Given the description of an element on the screen output the (x, y) to click on. 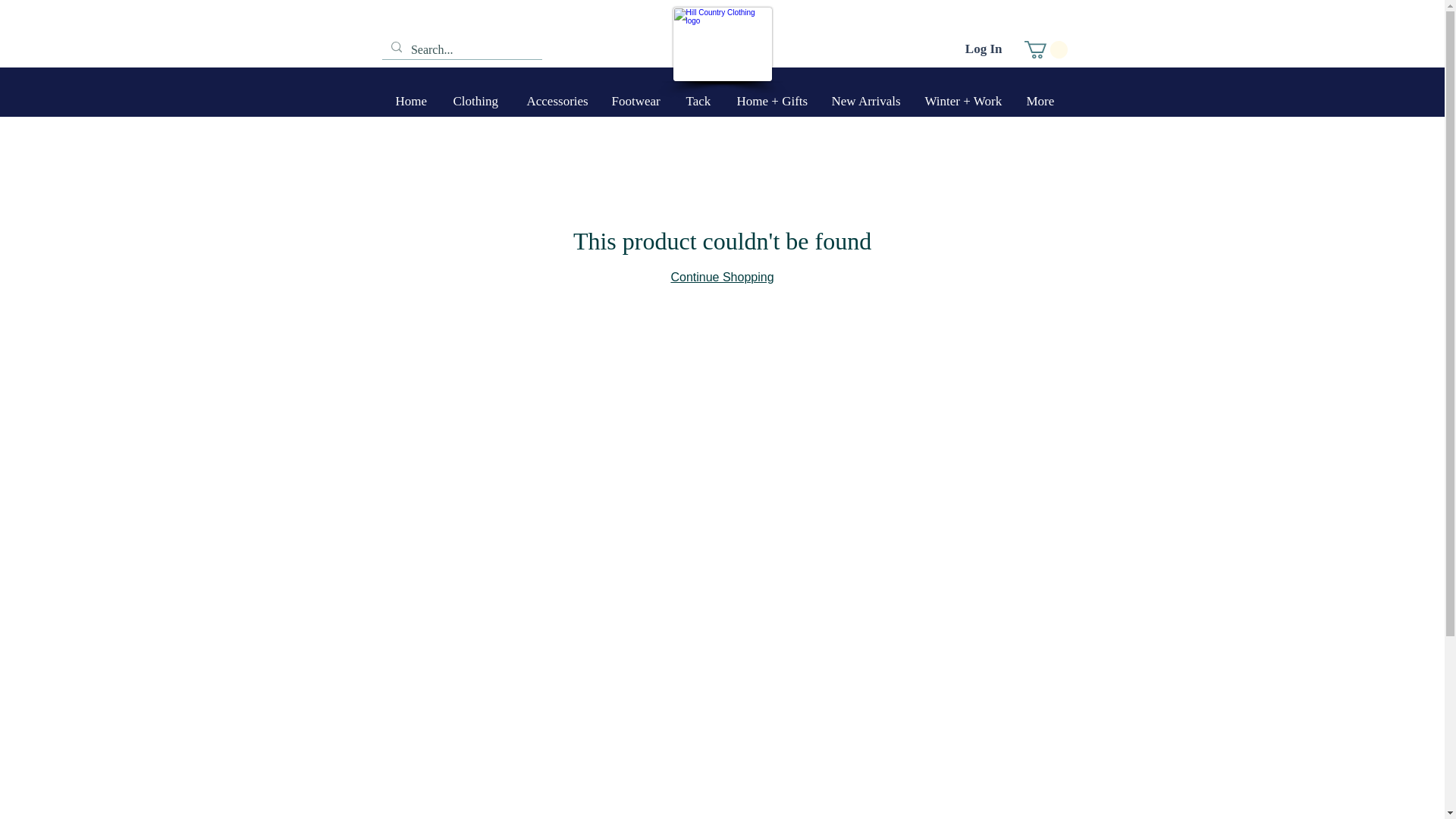
Home (412, 101)
Log In (984, 49)
Tack (700, 101)
Continue Shopping (721, 277)
Accessories (557, 101)
Clothing (478, 101)
Footwear (637, 101)
New Arrivals (867, 101)
